Given the description of an element on the screen output the (x, y) to click on. 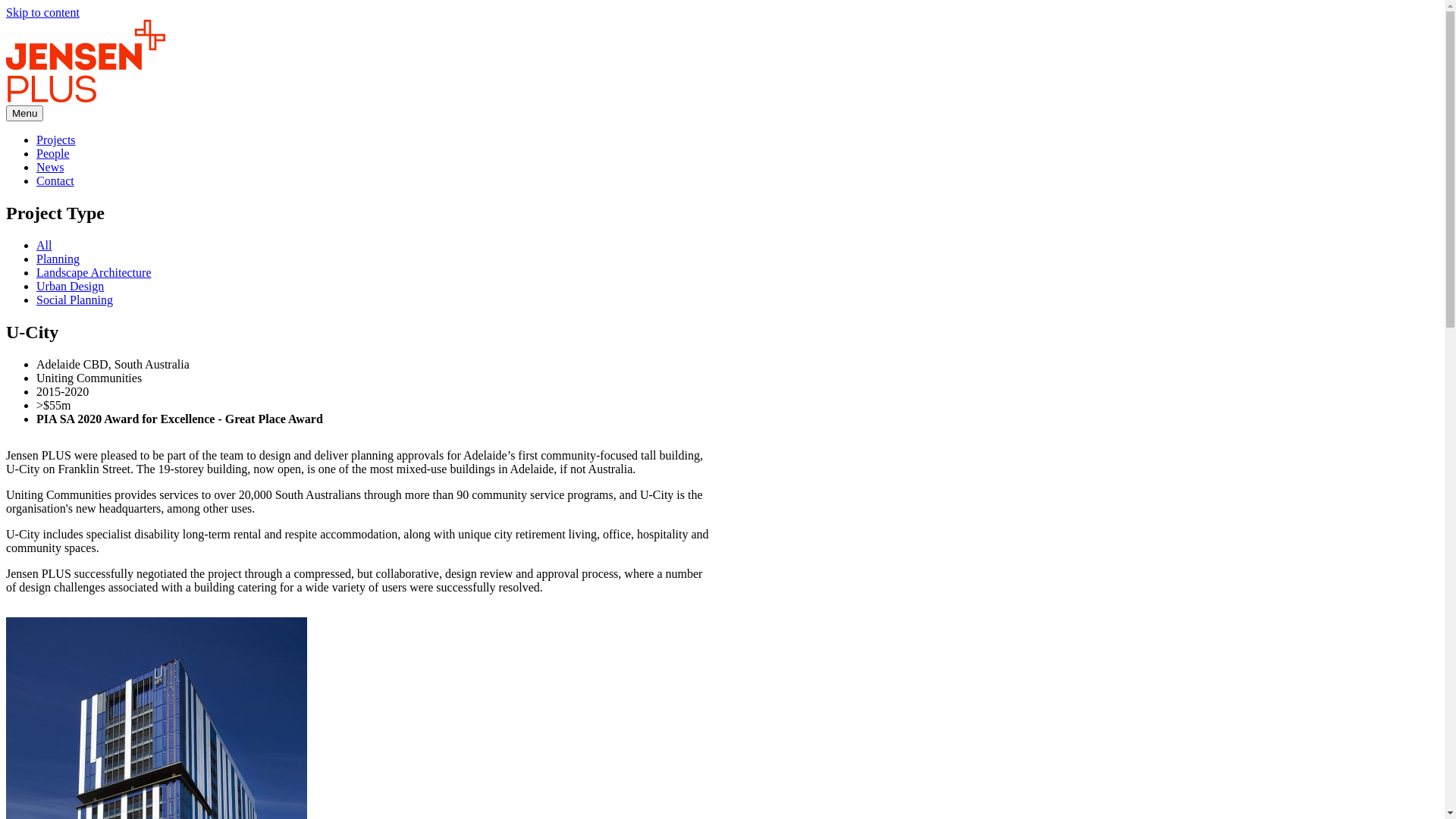
News Element type: text (49, 166)
Skip to content Element type: text (42, 12)
Planning Element type: text (57, 258)
Social Planning Element type: text (74, 299)
Urban Design Element type: text (69, 285)
Menu Element type: text (24, 113)
All Element type: text (43, 244)
Jensen Plus Element type: hover (85, 60)
People Element type: text (52, 153)
Projects Element type: text (55, 139)
Landscape Architecture Element type: text (93, 272)
Contact Element type: text (55, 180)
